Given the description of an element on the screen output the (x, y) to click on. 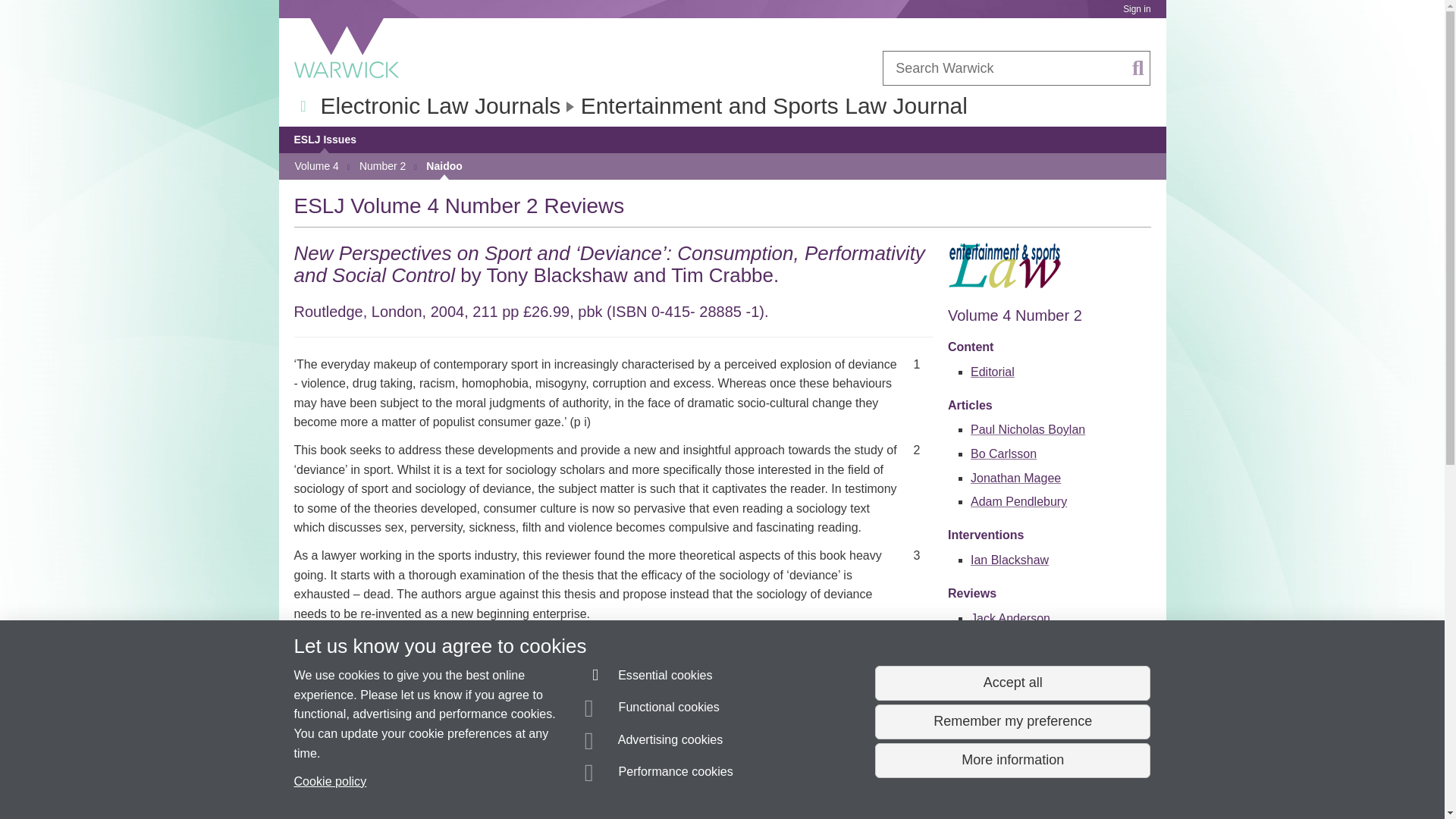
Number 2 (382, 166)
Electronic Law Journals (440, 105)
Naidoo (443, 166)
University of Warwick homepage (346, 48)
Entertainment and Sports Law Journal (774, 105)
Sign in (1136, 9)
Editorial (992, 371)
Electronic Law Journals home page (440, 105)
Essential cookies are always on (649, 677)
Volume 4 (315, 166)
Jonathan Magee (1016, 477)
ESLJ Issues (325, 139)
